Given the description of an element on the screen output the (x, y) to click on. 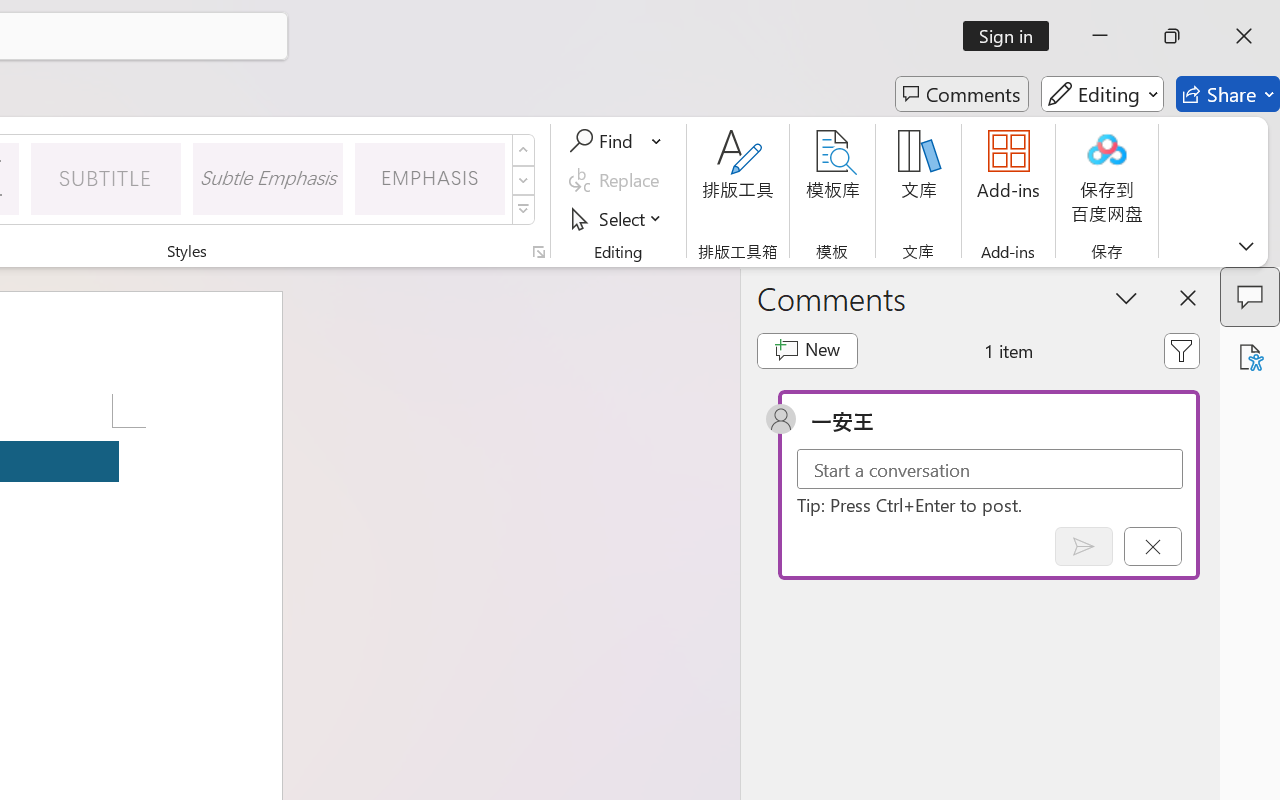
Start a conversation (990, 468)
Accessibility Assistant (1249, 357)
Subtle Emphasis (267, 178)
Editing (1101, 94)
Subtitle (105, 178)
